Given the description of an element on the screen output the (x, y) to click on. 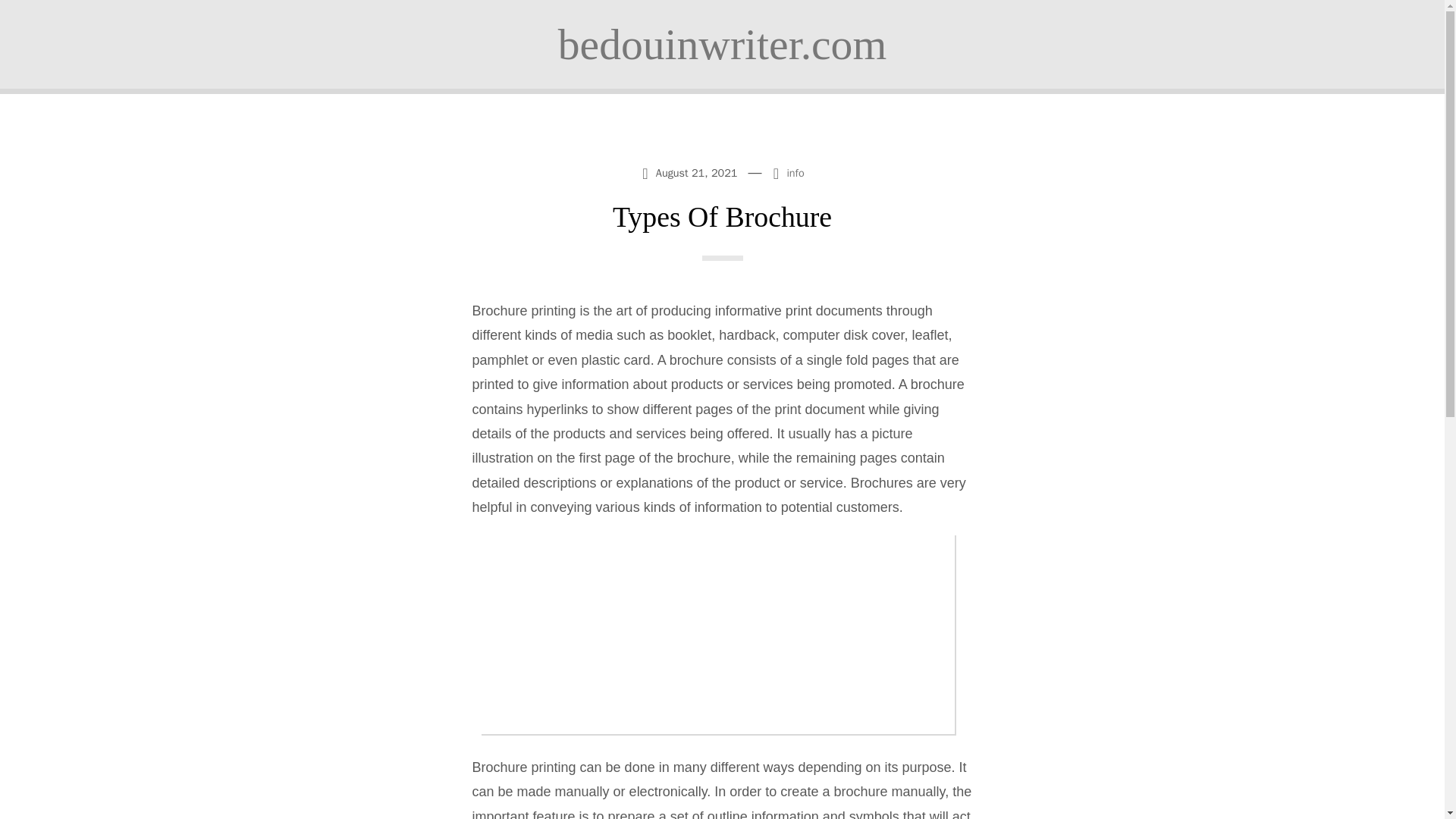
info (794, 172)
bedouinwriter.com (721, 43)
